Given the description of an element on the screen output the (x, y) to click on. 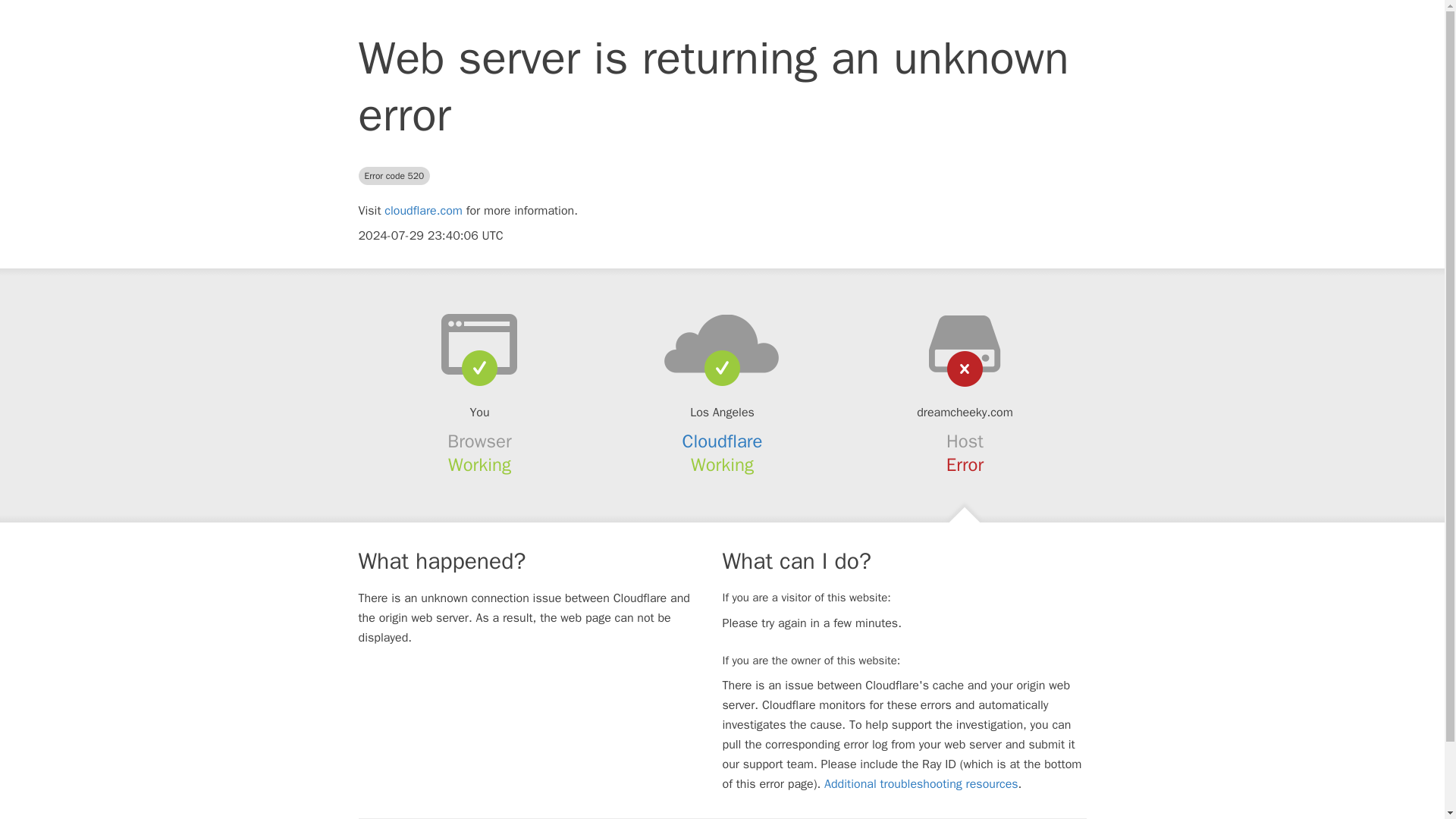
cloudflare.com (423, 210)
Cloudflare (722, 440)
Additional troubleshooting resources (920, 783)
